Given the description of an element on the screen output the (x, y) to click on. 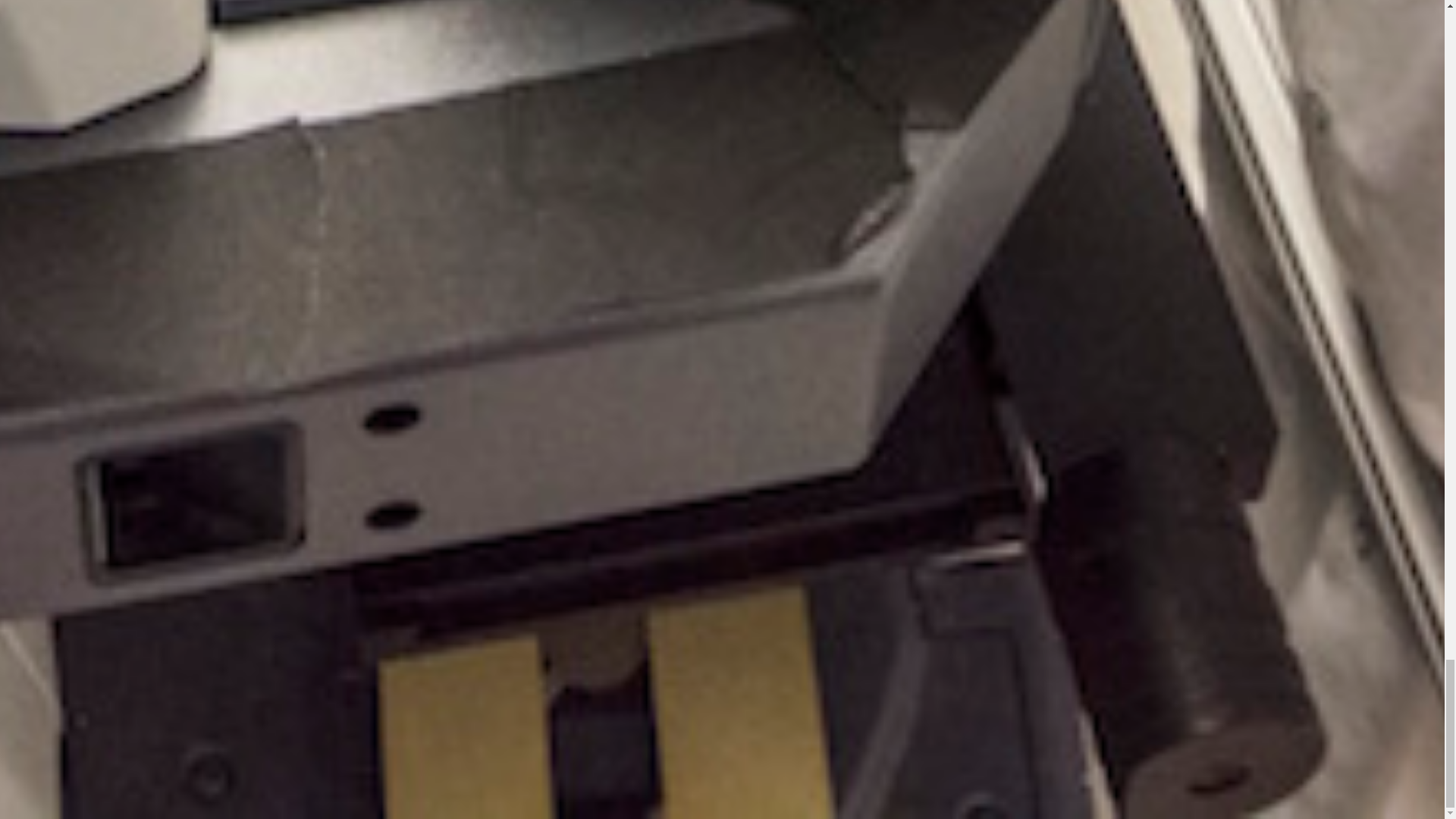
science.energy.gov (1382, 522)
www.lbl.gov (1209, 484)
